Given the description of an element on the screen output the (x, y) to click on. 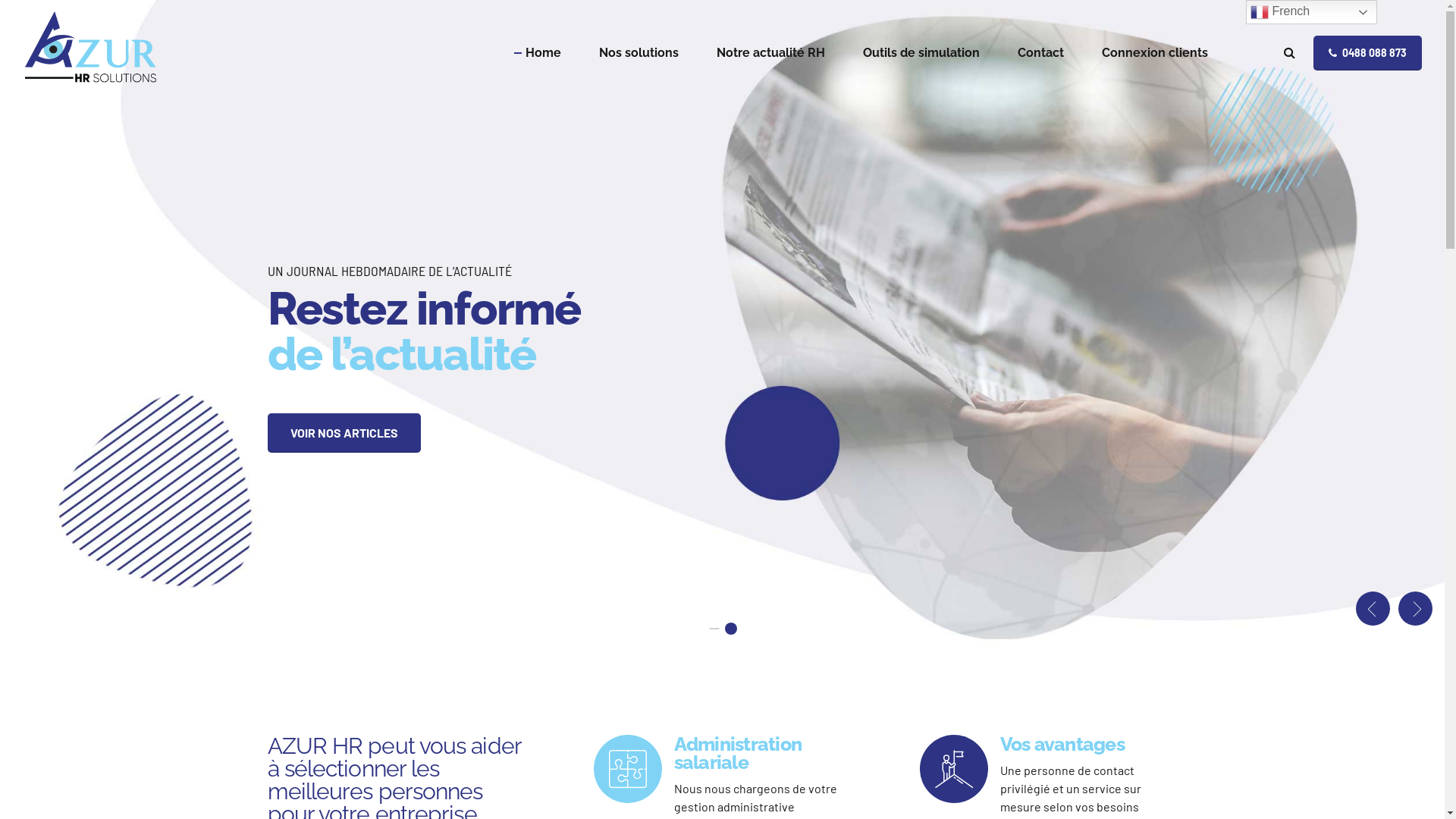
Connexion clients Element type: text (1154, 53)
Contact Element type: text (1040, 53)
French Element type: text (1311, 12)
Nos solutions Element type: text (638, 53)
VOIR NOS ARTICLES Element type: text (343, 432)
Outils de simulation Element type: text (920, 53)
0488 088 873 Element type: text (1367, 52)
Home Element type: text (543, 53)
